Given the description of an element on the screen output the (x, y) to click on. 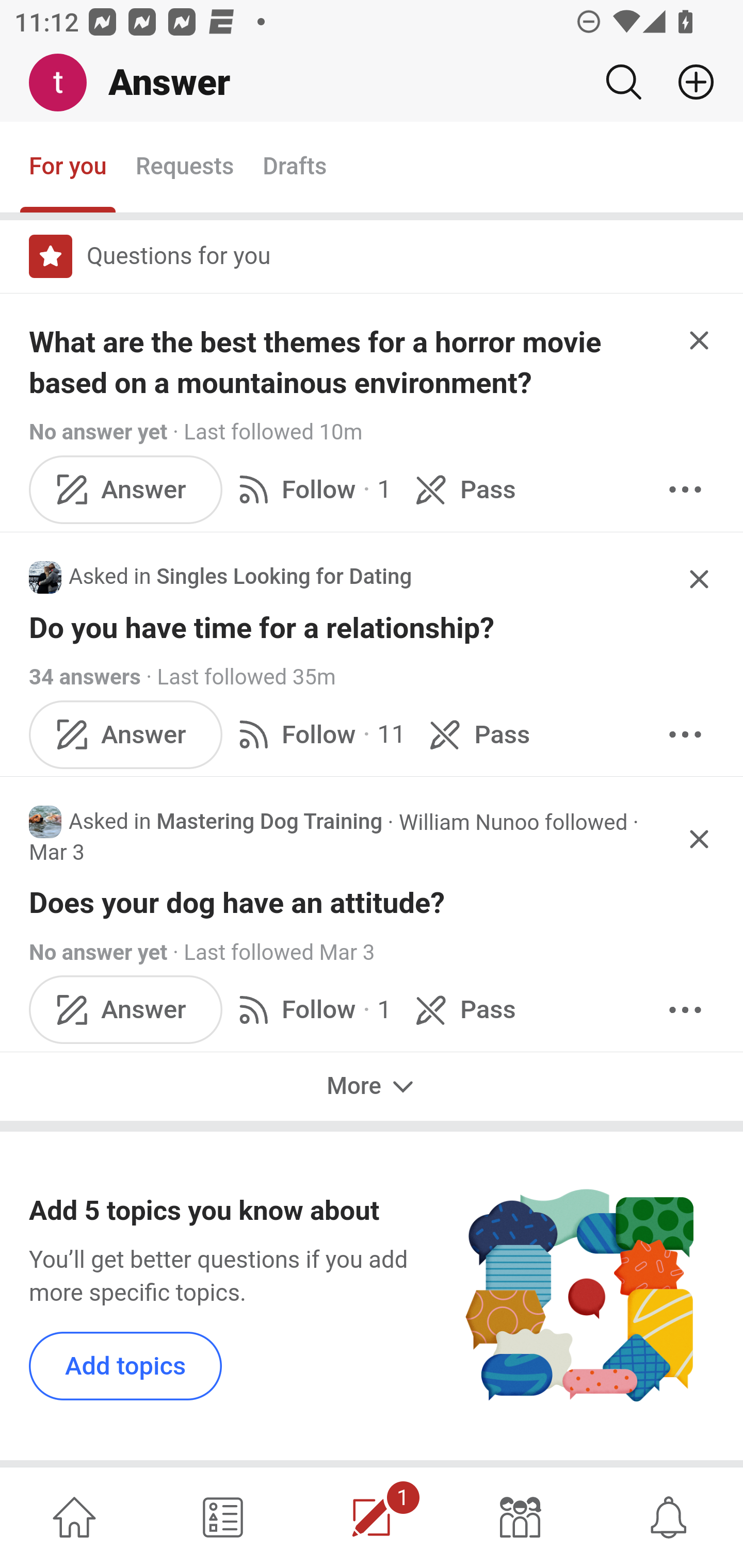
Me (64, 83)
Search (623, 82)
Add (688, 82)
For you (68, 167)
Requests (183, 167)
Drafts (295, 167)
Hide (699, 340)
No answer yet (97, 431)
Answer (125, 488)
Follow · 1 (311, 488)
Pass (461, 488)
More (684, 488)
Hide (699, 579)
Icon for Singles Looking for Dating (44, 576)
Do you have time for a relationship? (372, 627)
34 answers 34  answers (84, 676)
Answer (125, 734)
Follow · 11 (317, 734)
Pass (476, 734)
More (684, 734)
Icon for Mastering Dog Training (44, 822)
Hide (699, 839)
Does your dog have an attitude? (372, 903)
No answer yet (97, 952)
Answer (125, 1009)
Follow · 1 (311, 1009)
Pass (461, 1009)
More (684, 1009)
More (371, 1086)
Add topics (125, 1366)
